Given the description of an element on the screen output the (x, y) to click on. 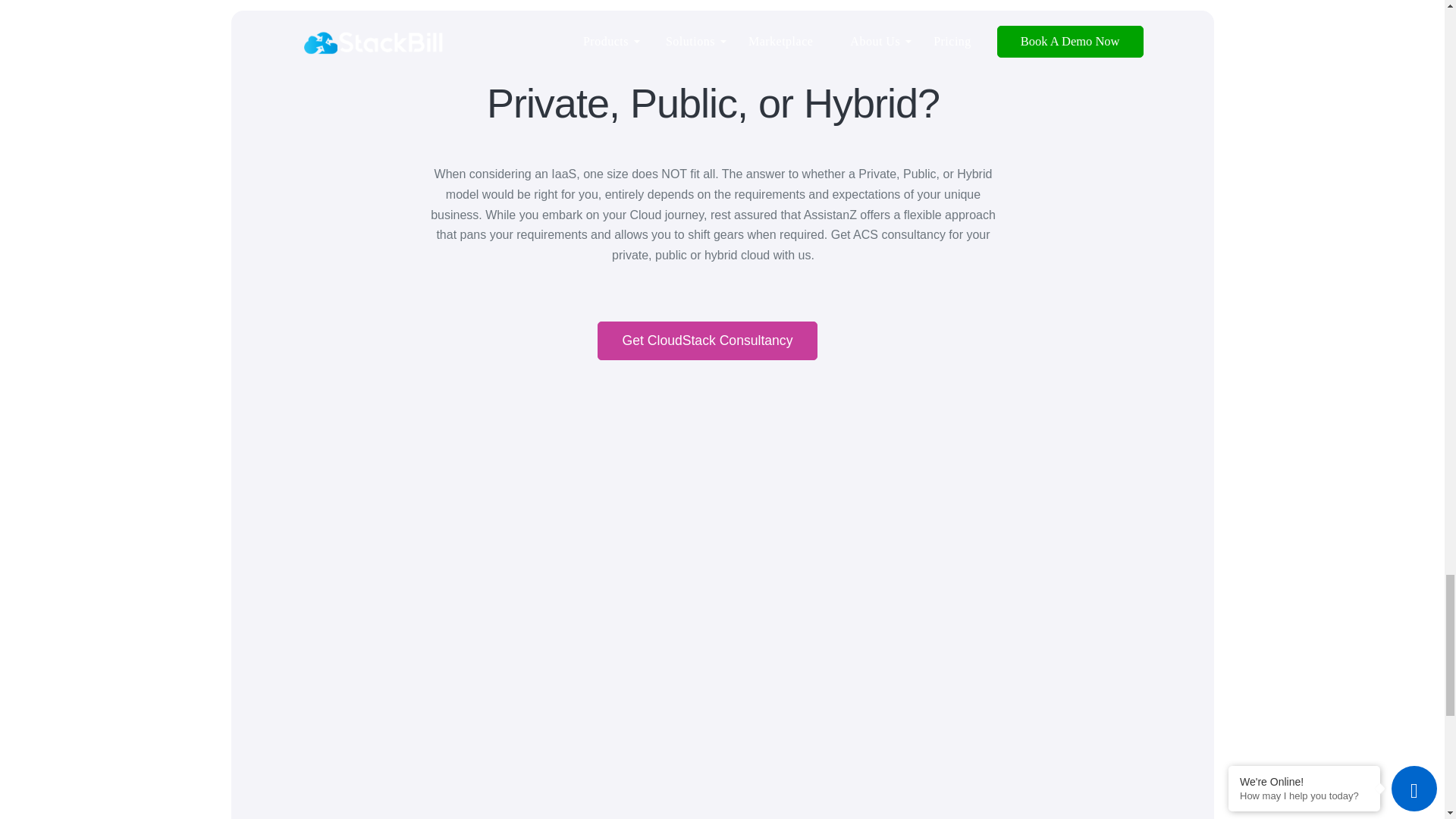
Get CloudStack Consultancy (707, 341)
